Given the description of an element on the screen output the (x, y) to click on. 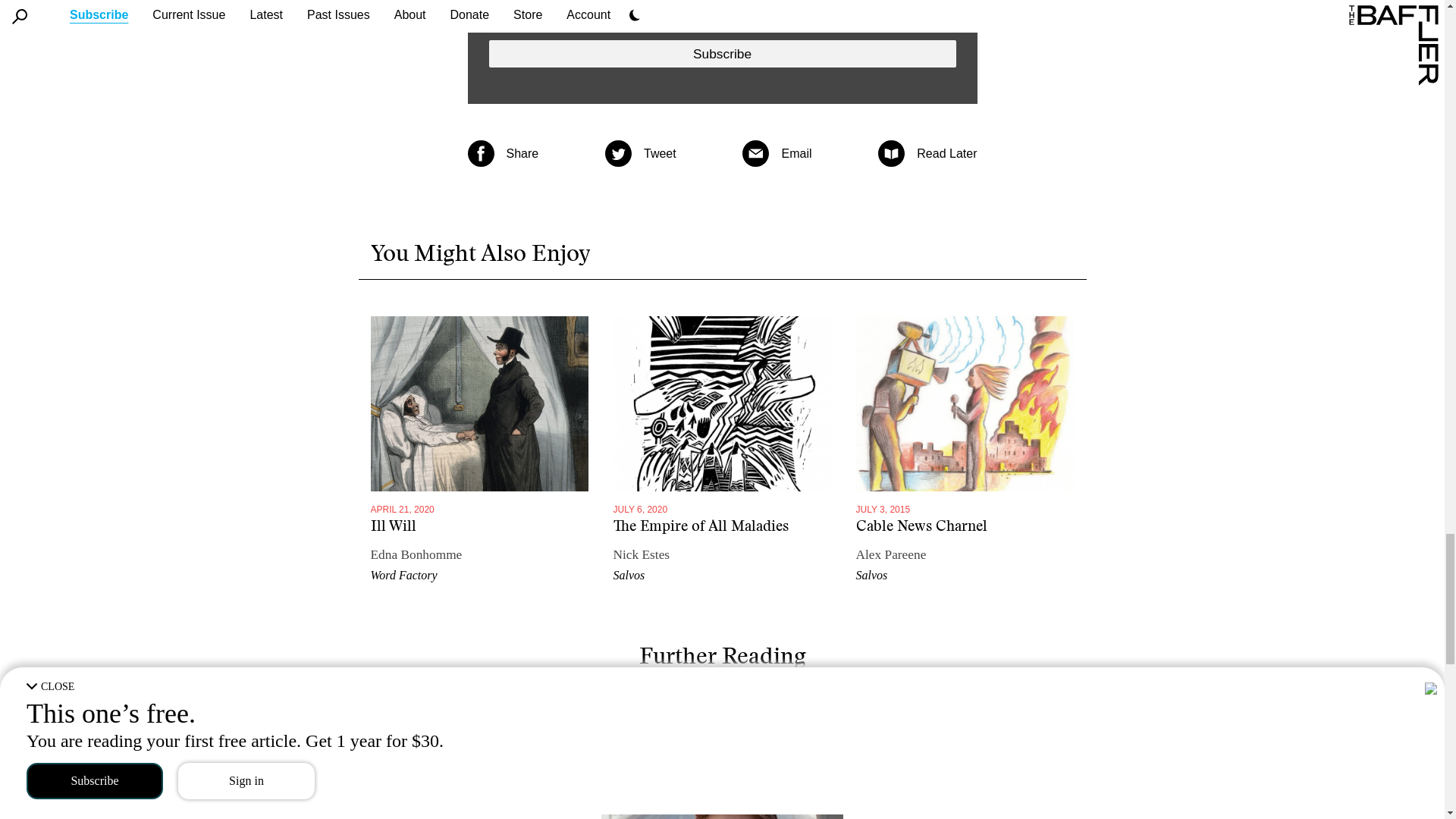
Share (522, 153)
Subscribe (721, 53)
Subscribe (721, 53)
